Given the description of an element on the screen output the (x, y) to click on. 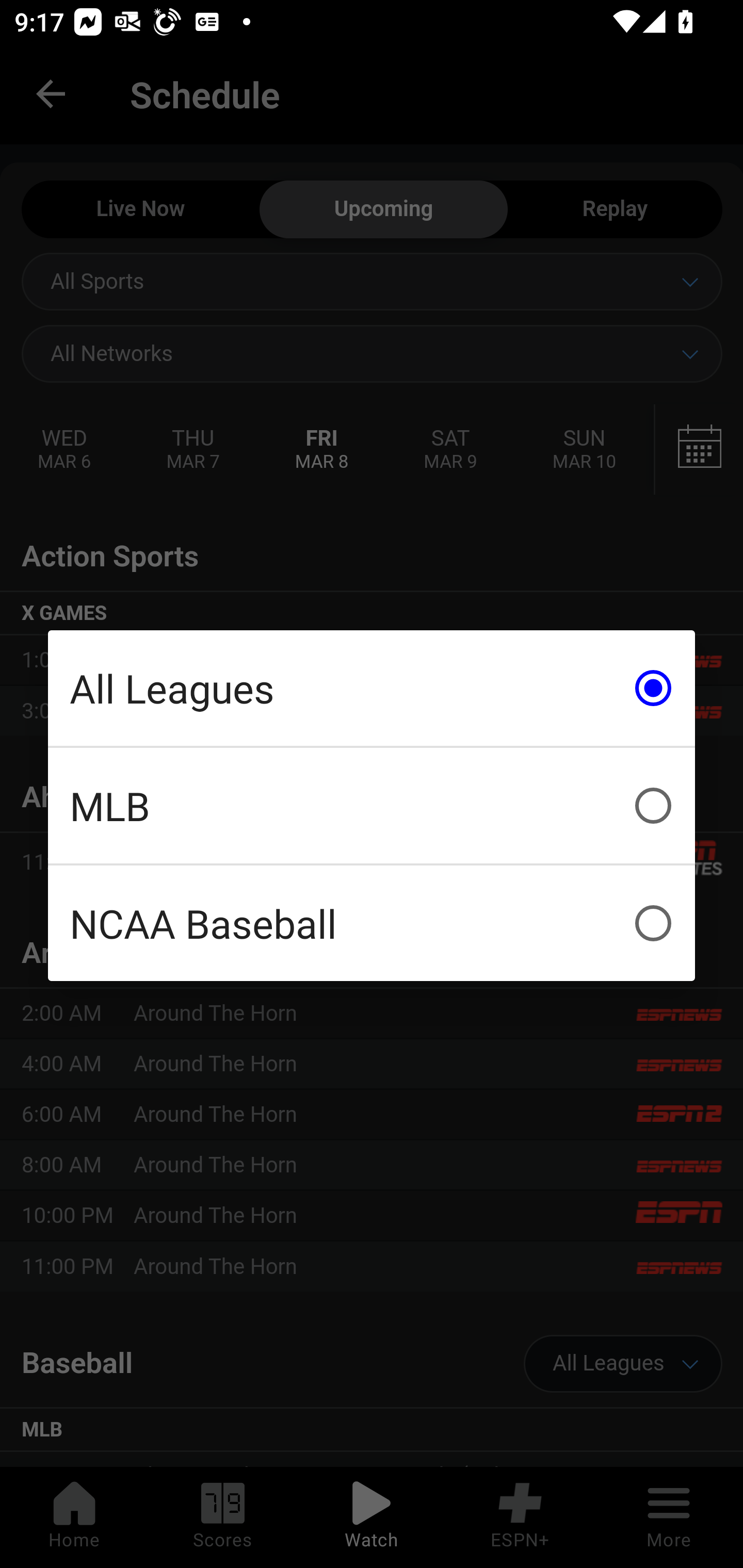
All Leagues (371, 688)
MLB (371, 805)
NCAA Baseball (371, 923)
